Given the description of an element on the screen output the (x, y) to click on. 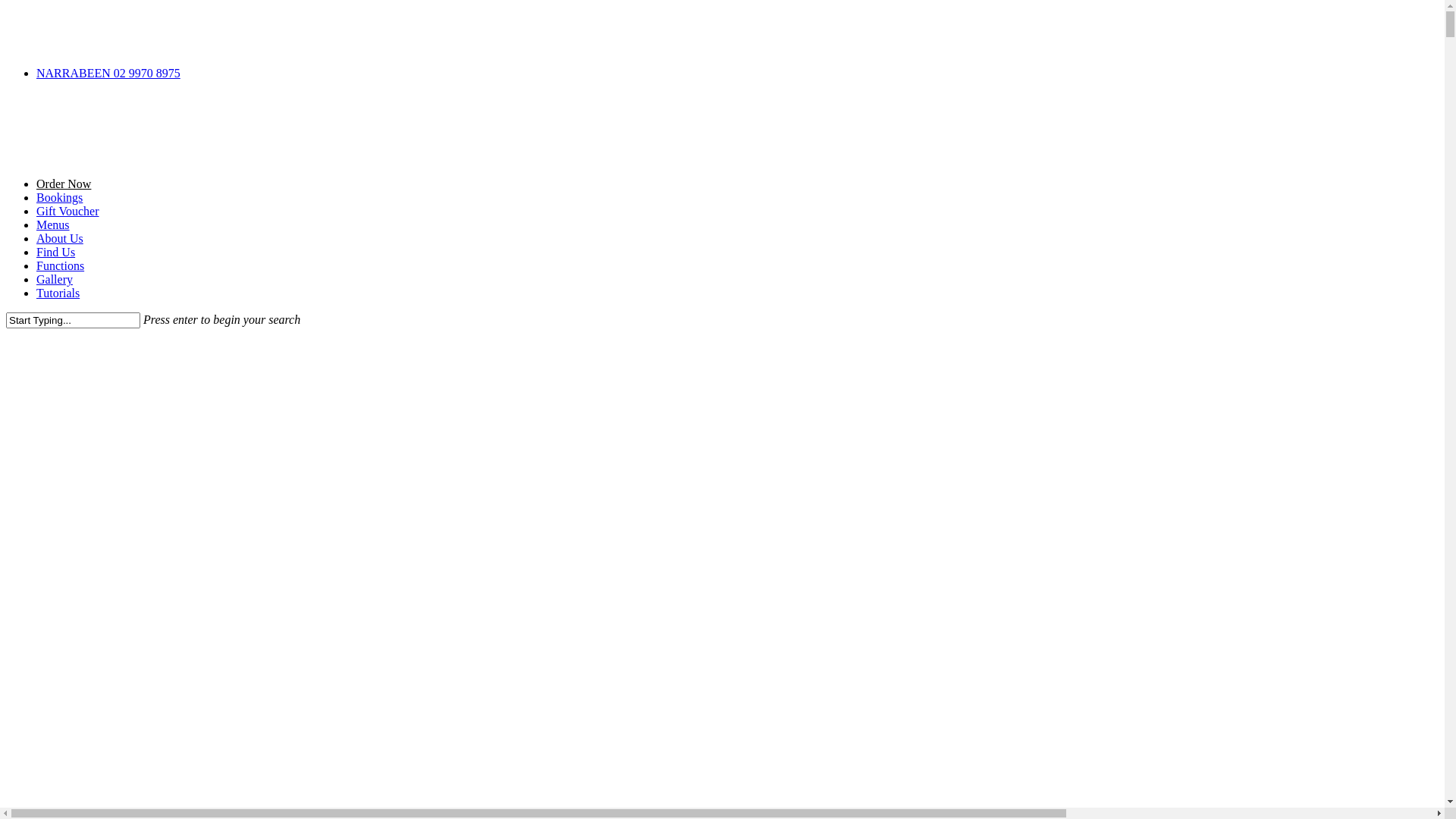
Tutorials Element type: text (57, 292)
About Us Element type: text (59, 238)
Gift Voucher Element type: text (67, 210)
Order Now Element type: text (63, 183)
Functions Element type: text (60, 265)
Menus Element type: text (52, 224)
Bookings Element type: text (59, 197)
NARRABEEN 02 9970 8975 Element type: text (108, 72)
Skip to main content Element type: text (5, 5)
Gallery Element type: text (54, 279)
Find Us Element type: text (55, 251)
